Given the description of an element on the screen output the (x, y) to click on. 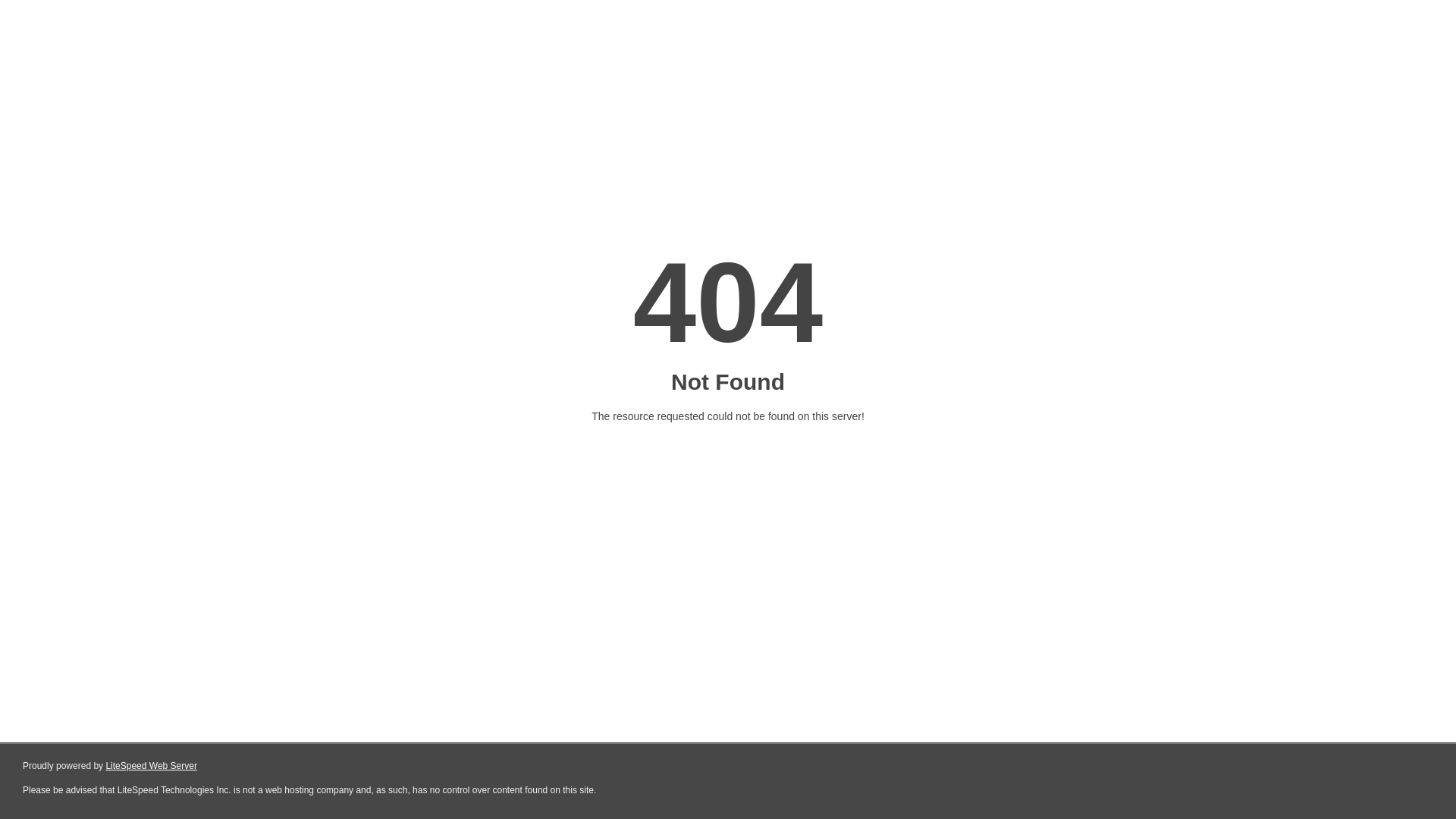
LiteSpeed Web Server Element type: text (151, 765)
